Given the description of an element on the screen output the (x, y) to click on. 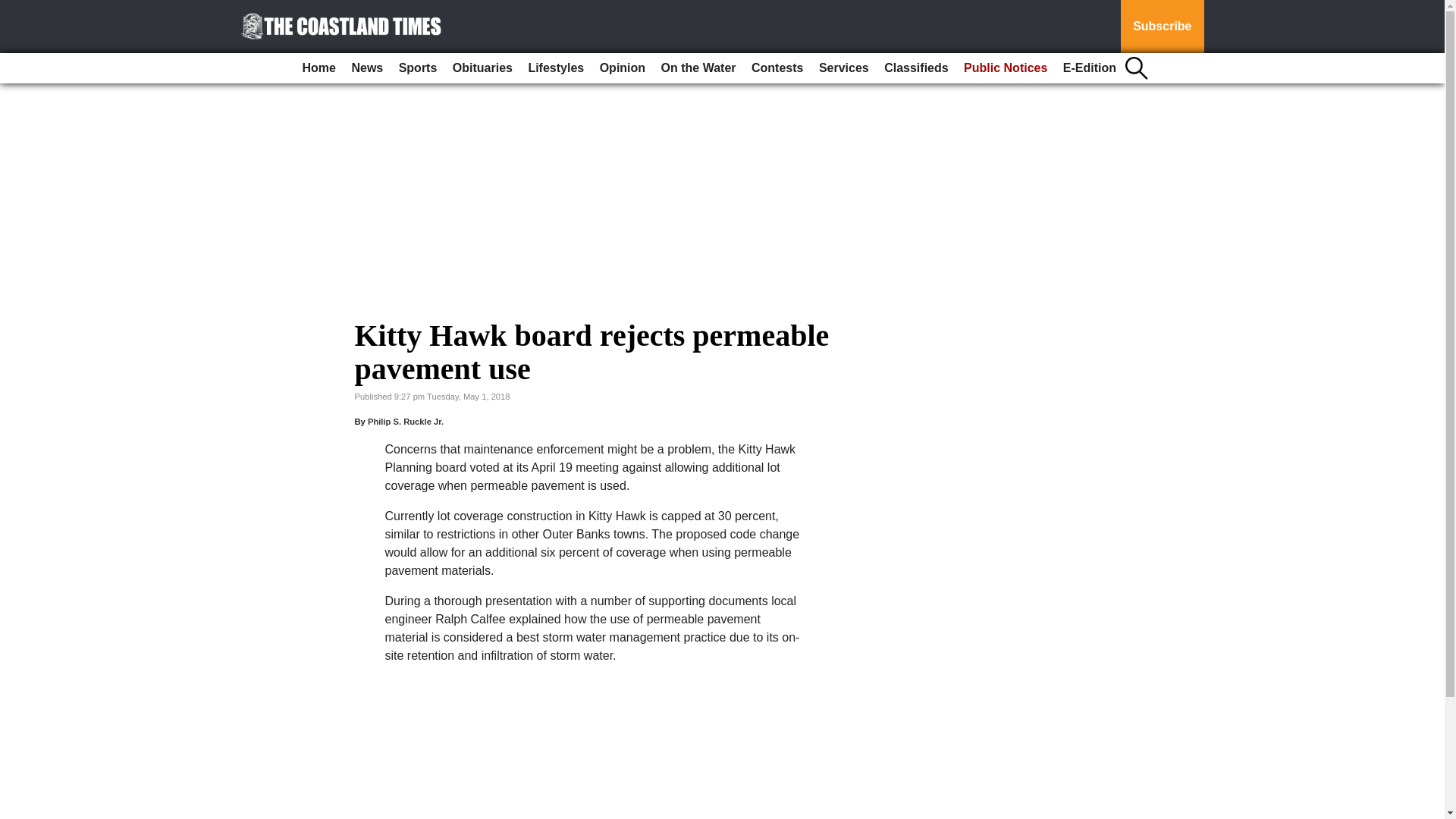
Obituaries (482, 68)
Services (843, 68)
Contests (777, 68)
Subscribe (1162, 26)
Opinion (622, 68)
On the Water (698, 68)
E-Edition (1089, 68)
News (366, 68)
Classifieds (915, 68)
Sports (418, 68)
